Given the description of an element on the screen output the (x, y) to click on. 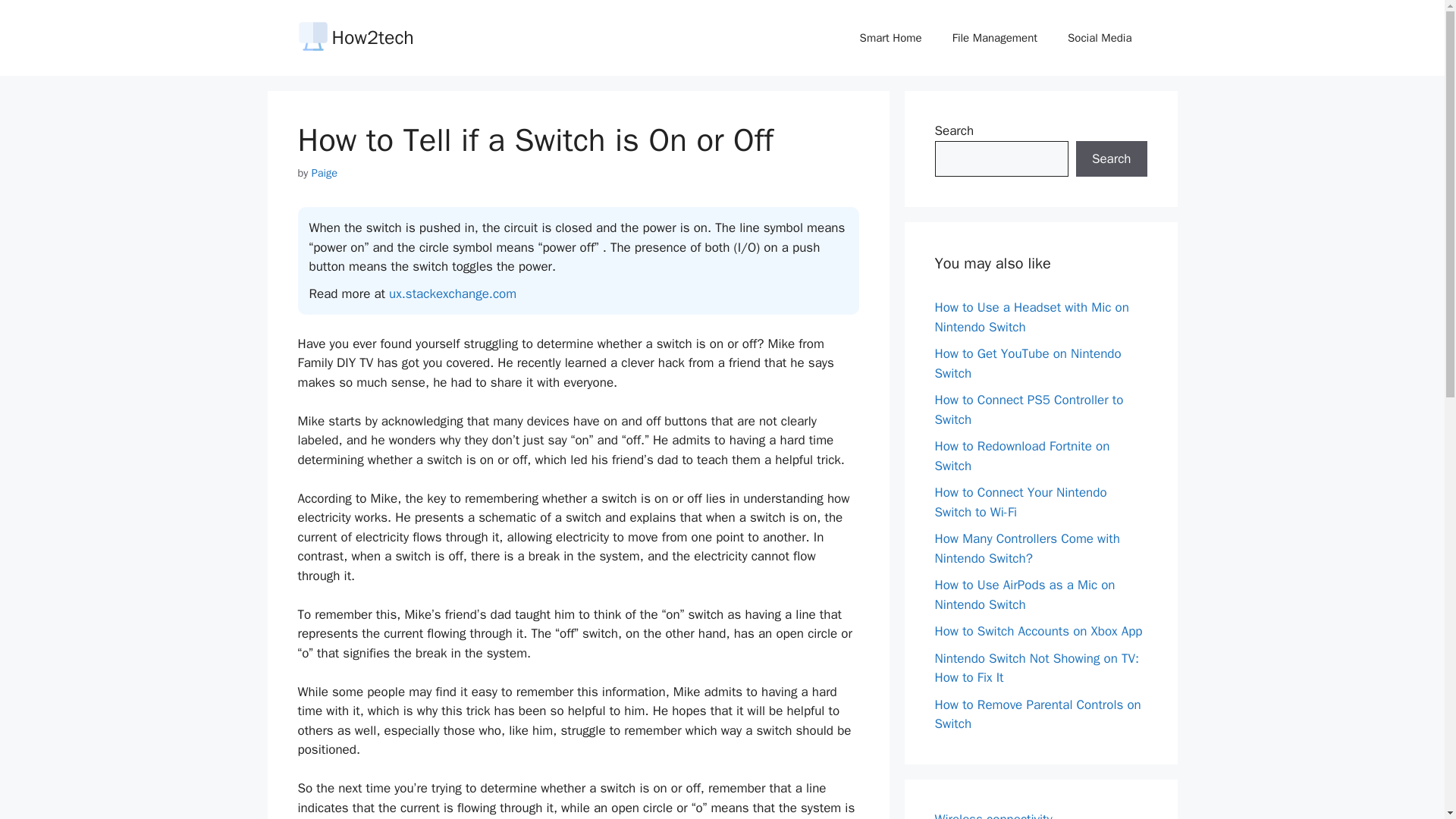
How Many Controllers Come with Nintendo Switch? (1026, 548)
How to Redownload Fortnite on Switch (1021, 456)
How2tech (372, 37)
How to Switch Accounts on Xbox App (1037, 631)
How to Get YouTube on Nintendo Switch (1027, 363)
How to Connect Your Nintendo Switch to Wi-Fi (1020, 502)
Wireless connectivity (992, 815)
File Management (994, 37)
ux.stackexchange.com (452, 293)
How to Remove Parental Controls on Switch (1037, 714)
